Given the description of an element on the screen output the (x, y) to click on. 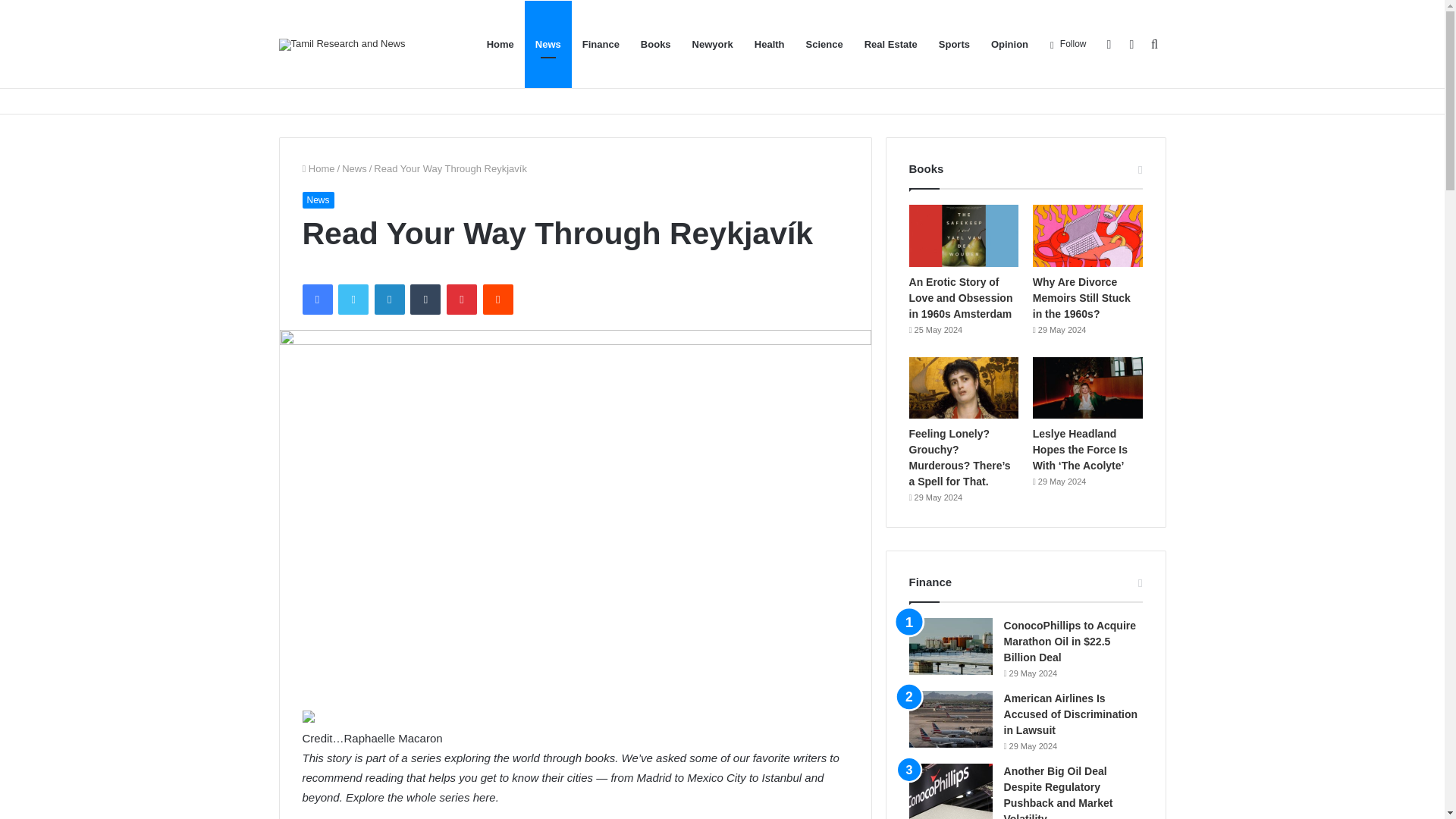
Tumblr (425, 299)
Pinterest (461, 299)
Tumblr (425, 299)
Facebook (316, 299)
LinkedIn (389, 299)
Tamil Research and News (342, 43)
Home (317, 168)
Pinterest (461, 299)
Twitter (352, 299)
Twitter (352, 299)
News (354, 168)
News (317, 199)
Reddit (498, 299)
Facebook (316, 299)
LinkedIn (389, 299)
